Given the description of an element on the screen output the (x, y) to click on. 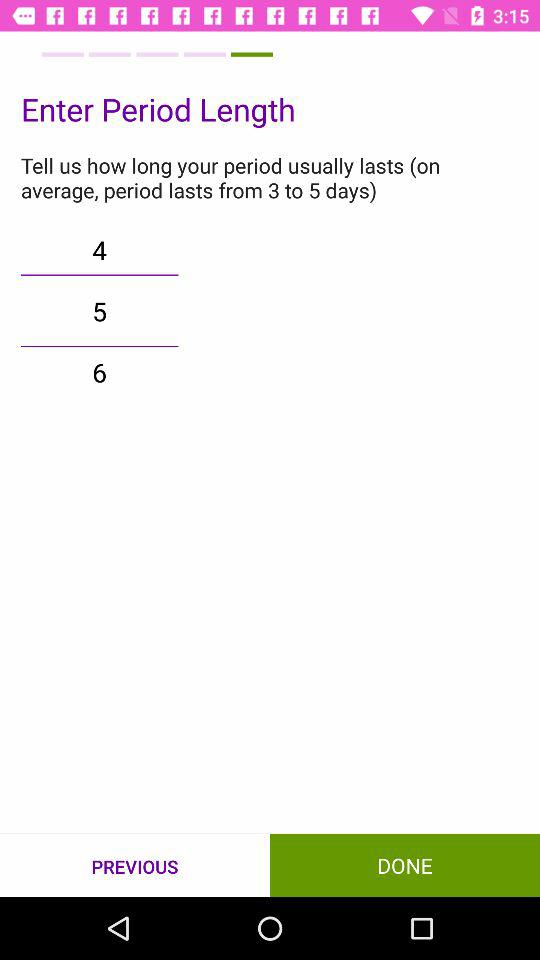
choose the item to the left of done item (135, 865)
